Given the description of an element on the screen output the (x, y) to click on. 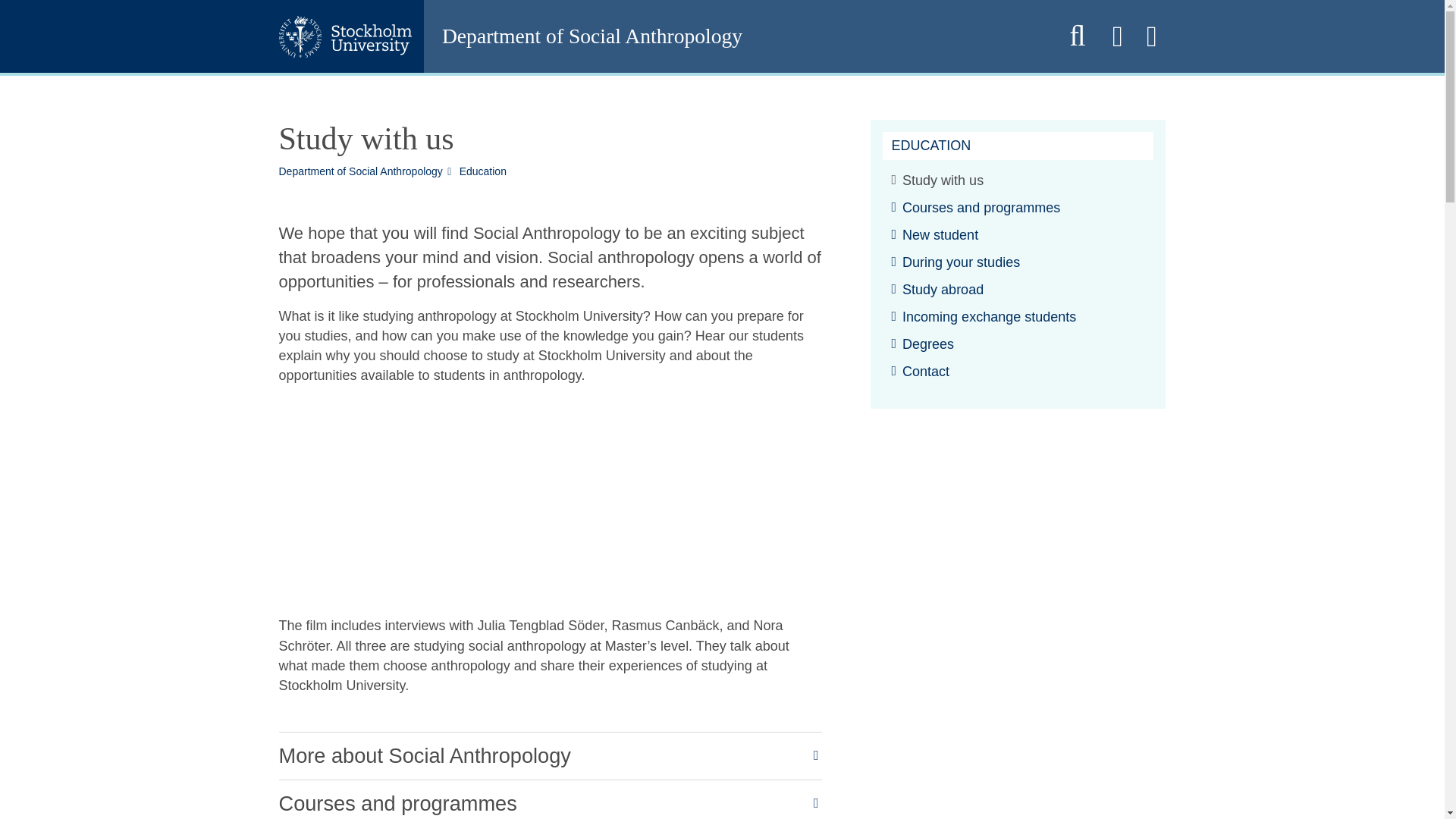
Department of Social Anthropology (734, 36)
Web page home (734, 36)
